Given the description of an element on the screen output the (x, y) to click on. 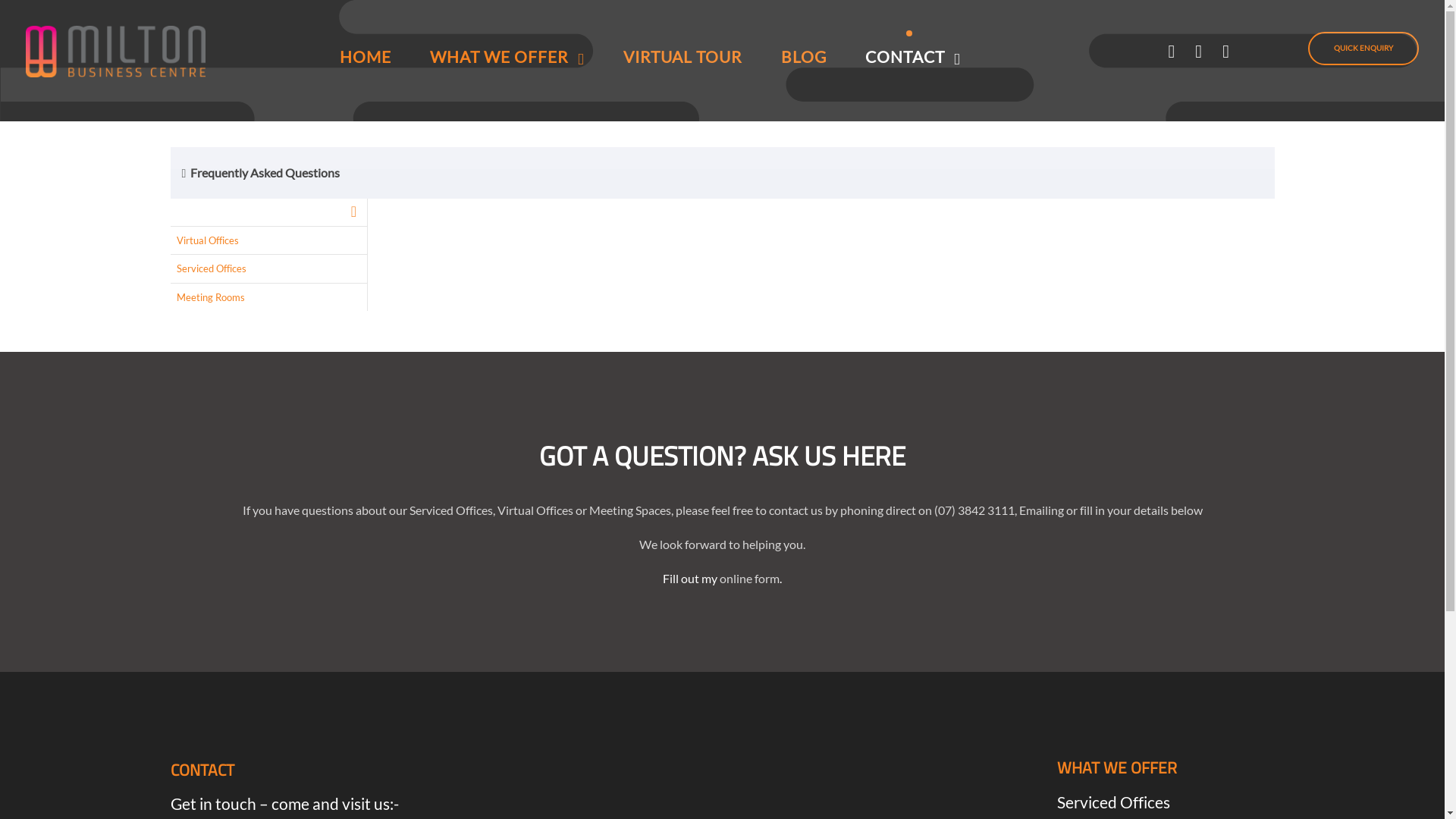
HOME Element type: text (365, 54)
CONTACT Element type: text (913, 54)
BLOG Element type: text (803, 54)
Serviced Offices Element type: text (268, 268)
Emailing Element type: text (1041, 509)
Serviced Offices Element type: text (450, 509)
Meeting Rooms Element type: text (268, 296)
QUICK ENQUIRY Element type: text (1363, 48)
  Frequently Asked Questions Element type: text (261, 172)
Virtual Offices Element type: text (268, 239)
Serviced Offices Element type: text (1113, 801)
Milton Business Centre Element type: hover (115, 47)
VIRTUAL TOUR Element type: text (682, 54)
Meeting Spaces Element type: text (629, 509)
online form Element type: text (749, 578)
(07) 3842 3111 Element type: text (974, 509)
Virtual Offices Element type: text (535, 509)
